Given the description of an element on the screen output the (x, y) to click on. 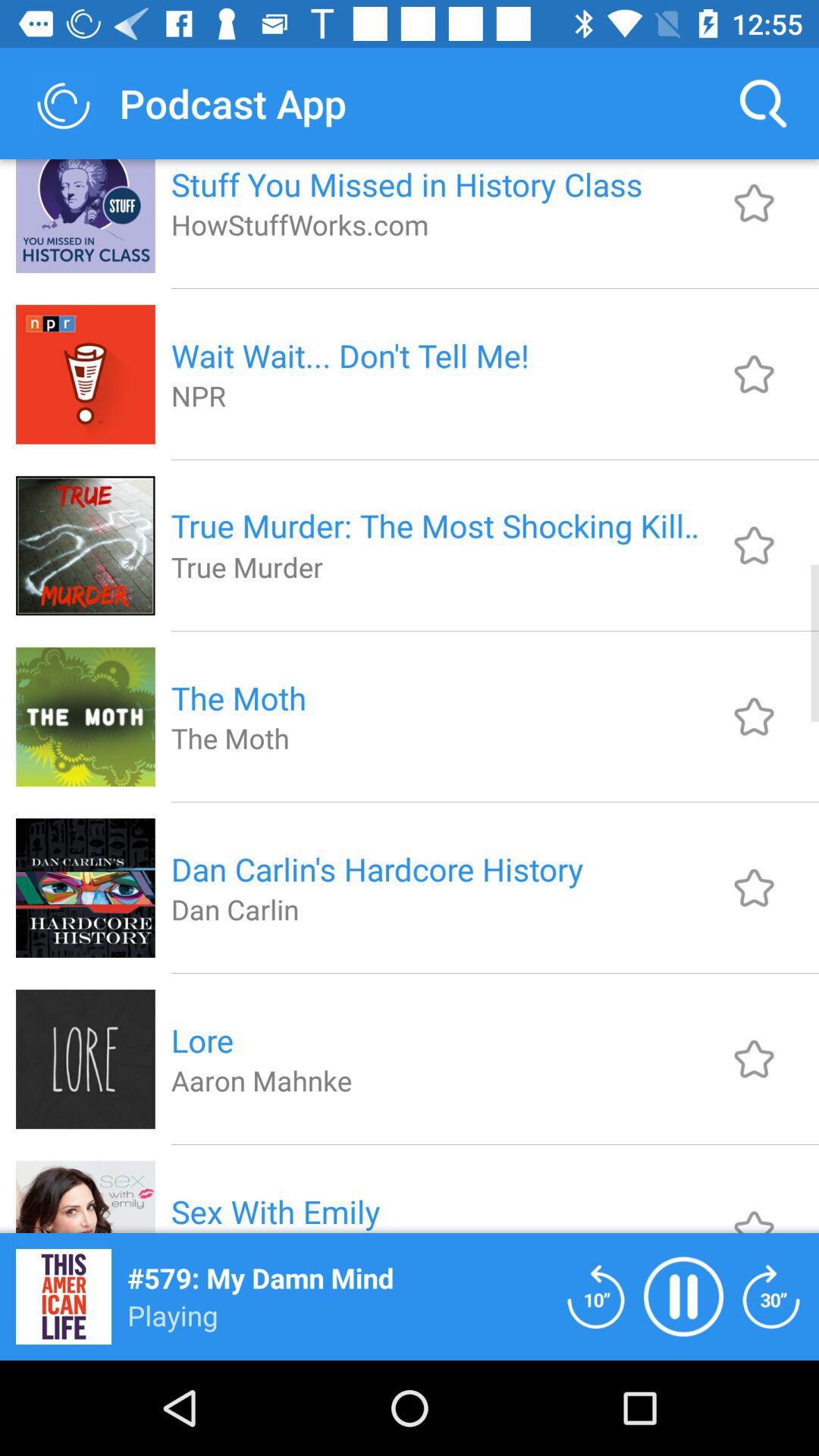
fast forward (771, 1296)
